Given the description of an element on the screen output the (x, y) to click on. 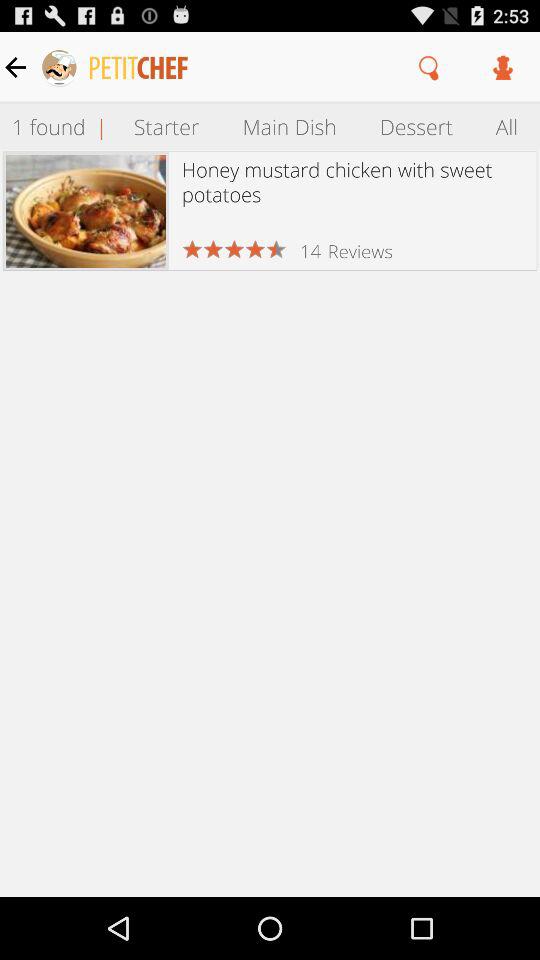
jump to the main dish item (289, 126)
